Given the description of an element on the screen output the (x, y) to click on. 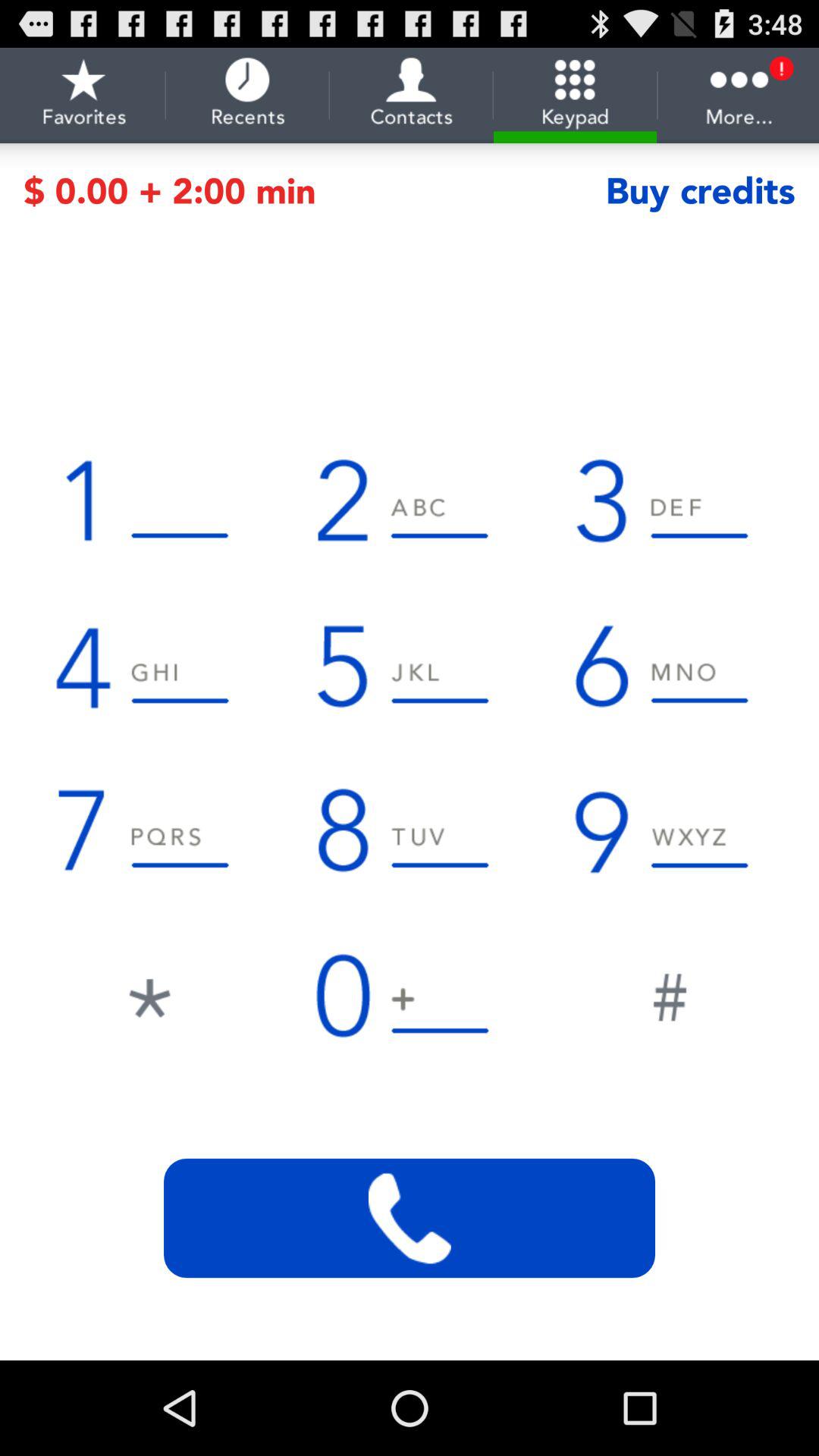
select 1 keypad which is below  000200 min on the page (149, 499)
click on  button (669, 993)
click on more options symbol (739, 95)
click on the digit 5 text jkl (409, 665)
select the text on the top left corner (83, 95)
select numeric 7 from dial pad of the page (149, 829)
select the text which is right to the text min  (700, 190)
